Given the description of an element on the screen output the (x, y) to click on. 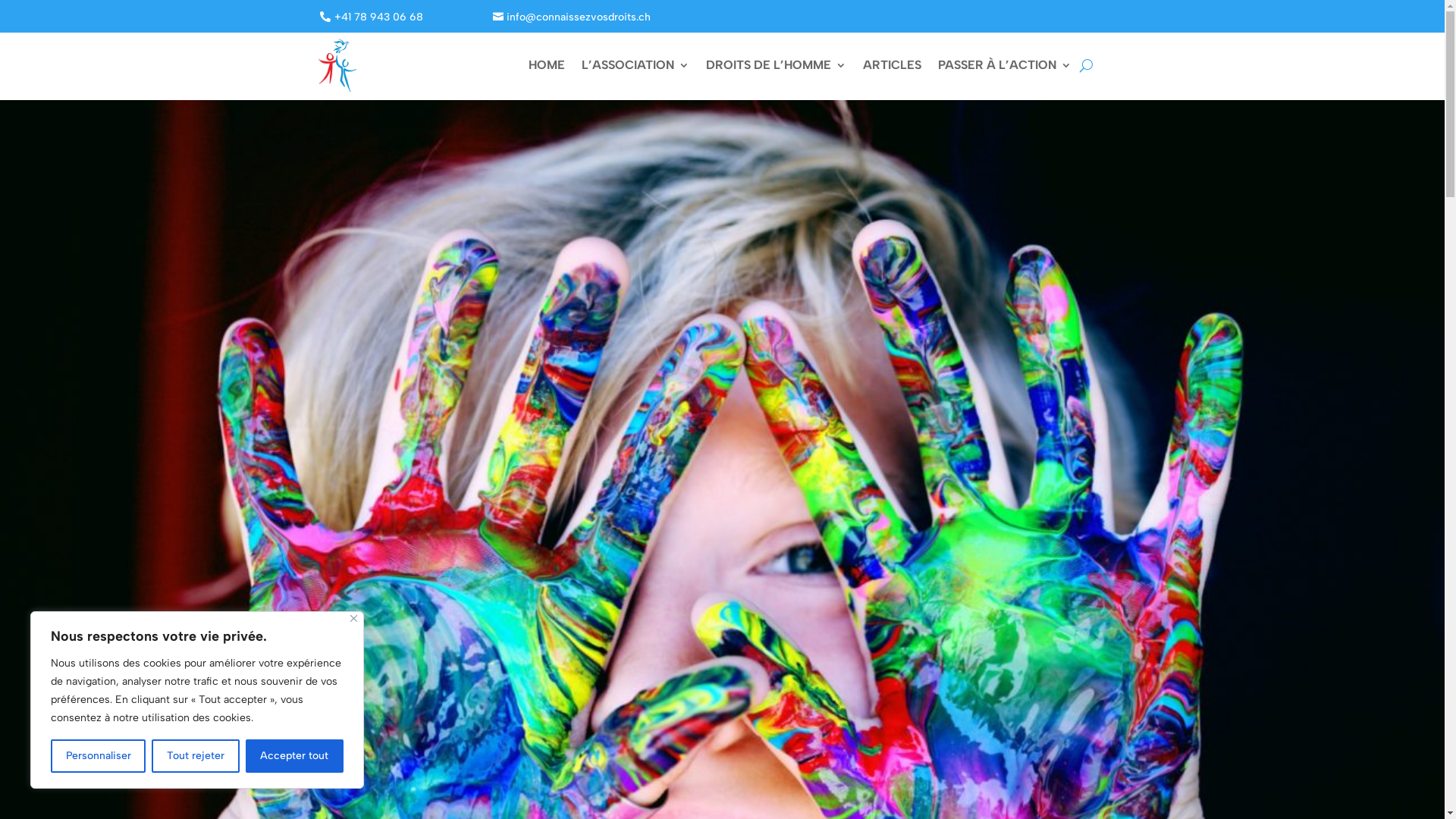
info@connaissezvosdroits.ch Element type: text (571, 17)
Tout rejeter Element type: text (194, 755)
Personnaliser Element type: text (97, 755)
ARTICLES Element type: text (891, 67)
+41 78 943 06 68 Element type: text (370, 17)
Accepter tout Element type: text (294, 755)
HOME Element type: text (546, 67)
